Given the description of an element on the screen output the (x, y) to click on. 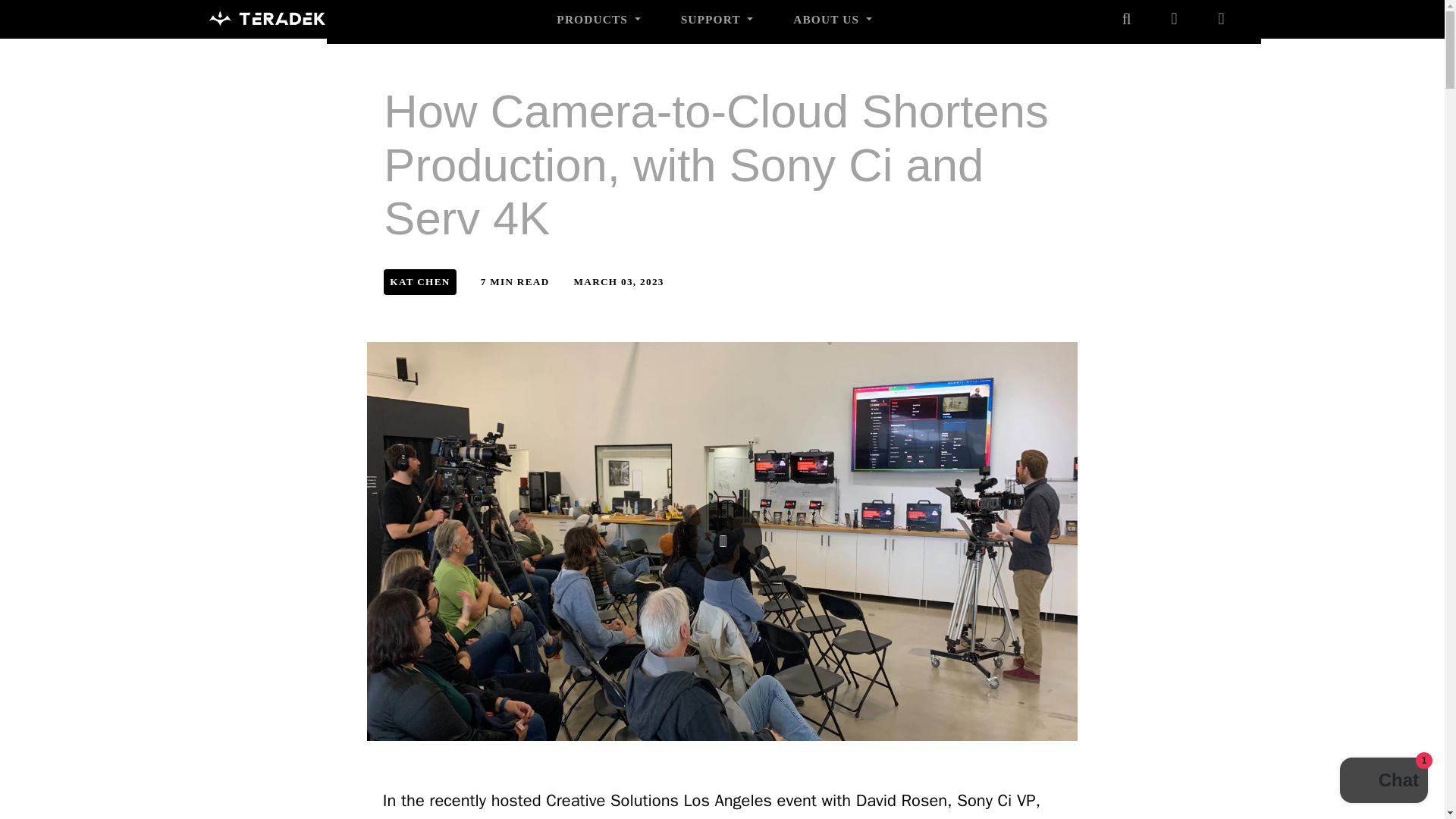
Shopify online store chat (1383, 781)
PRODUCTS (599, 18)
SUPPORT (717, 18)
